Given the description of an element on the screen output the (x, y) to click on. 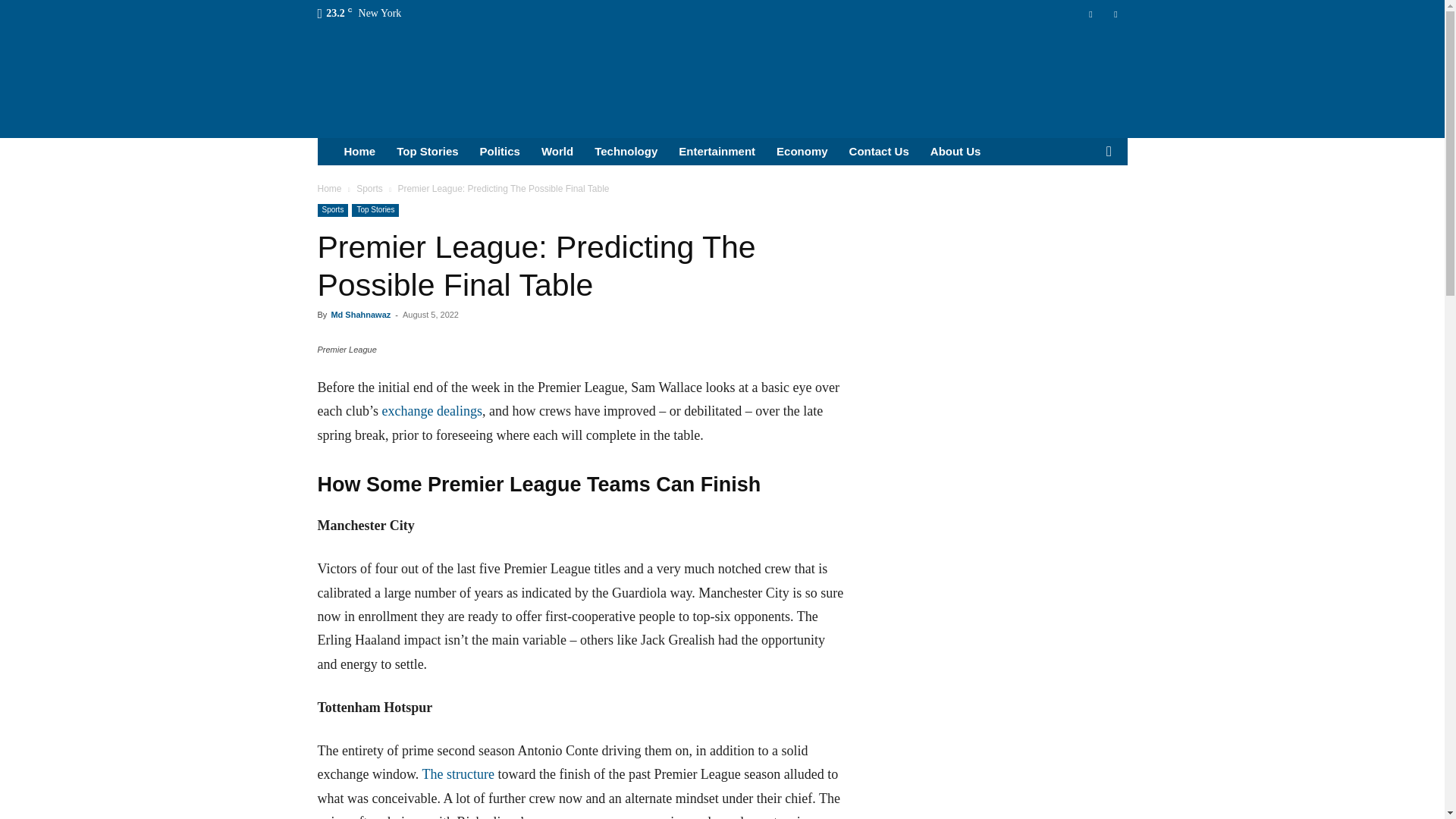
Sports (332, 210)
Twitter (1114, 13)
View all posts in Sports (369, 188)
Home (360, 151)
Politics (499, 151)
Search (1085, 207)
About Us (955, 151)
The structure (457, 774)
Facebook (1090, 13)
Entertainment (716, 151)
exchange dealings (431, 410)
Top Stories (426, 151)
Home (328, 188)
Top Stories (375, 210)
Sports (369, 188)
